Given the description of an element on the screen output the (x, y) to click on. 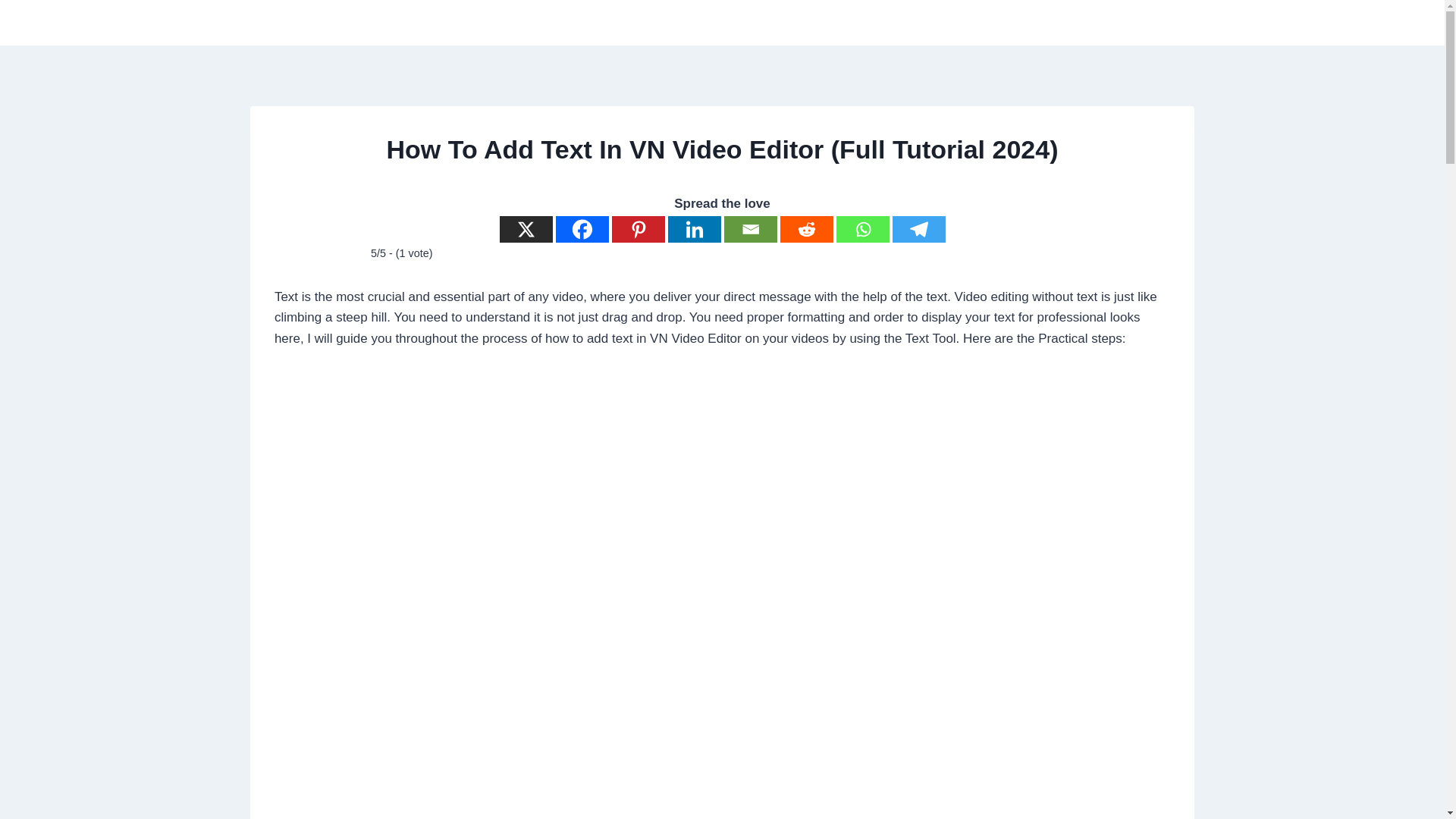
Email (749, 229)
Linkedin (693, 229)
Reddit (805, 229)
Whatsapp (861, 229)
X (525, 229)
Pinterest (637, 229)
Facebook (581, 229)
Telegram (917, 229)
